Given the description of an element on the screen output the (x, y) to click on. 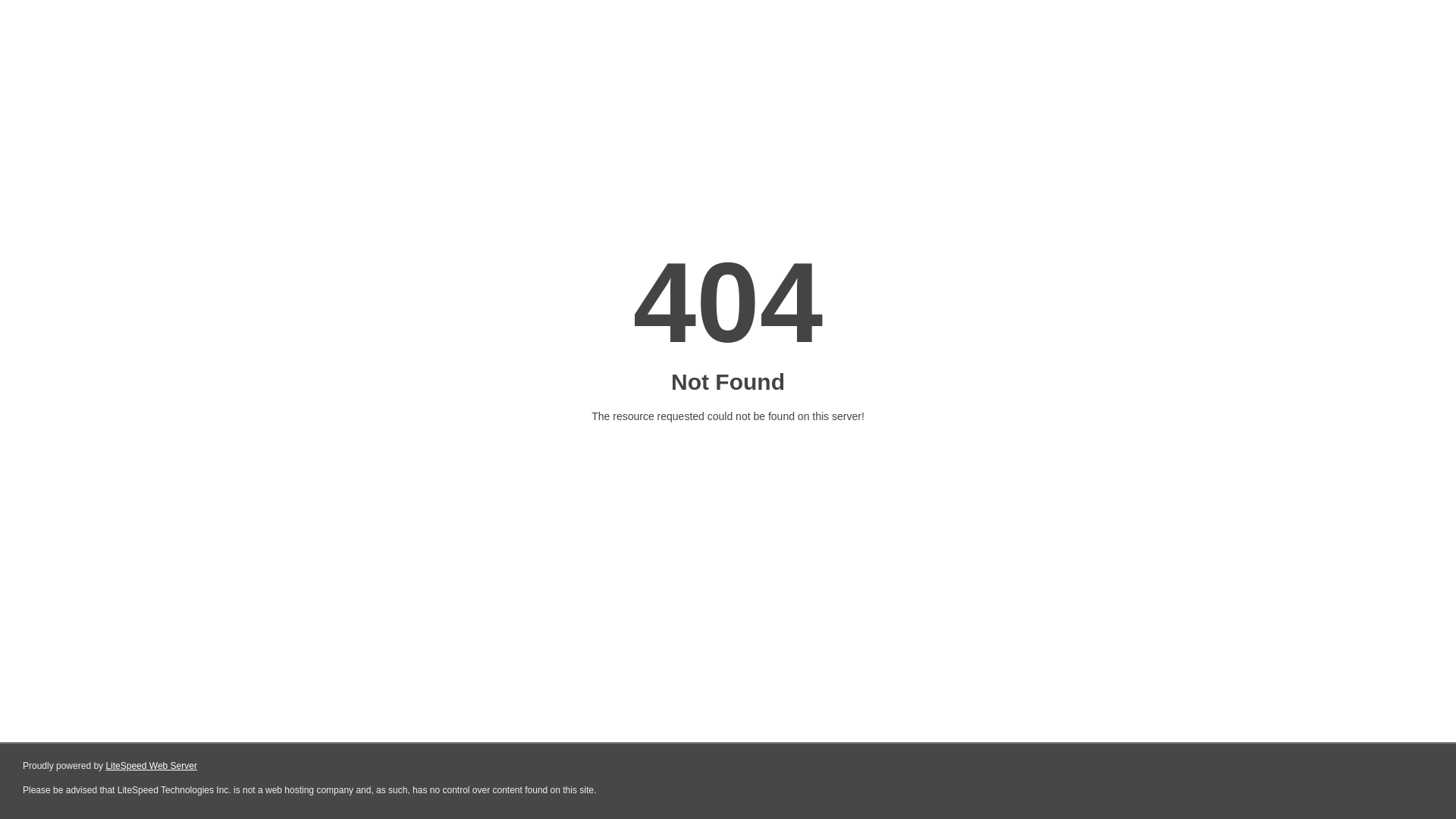
LiteSpeed Web Server Element type: text (151, 765)
